Given the description of an element on the screen output the (x, y) to click on. 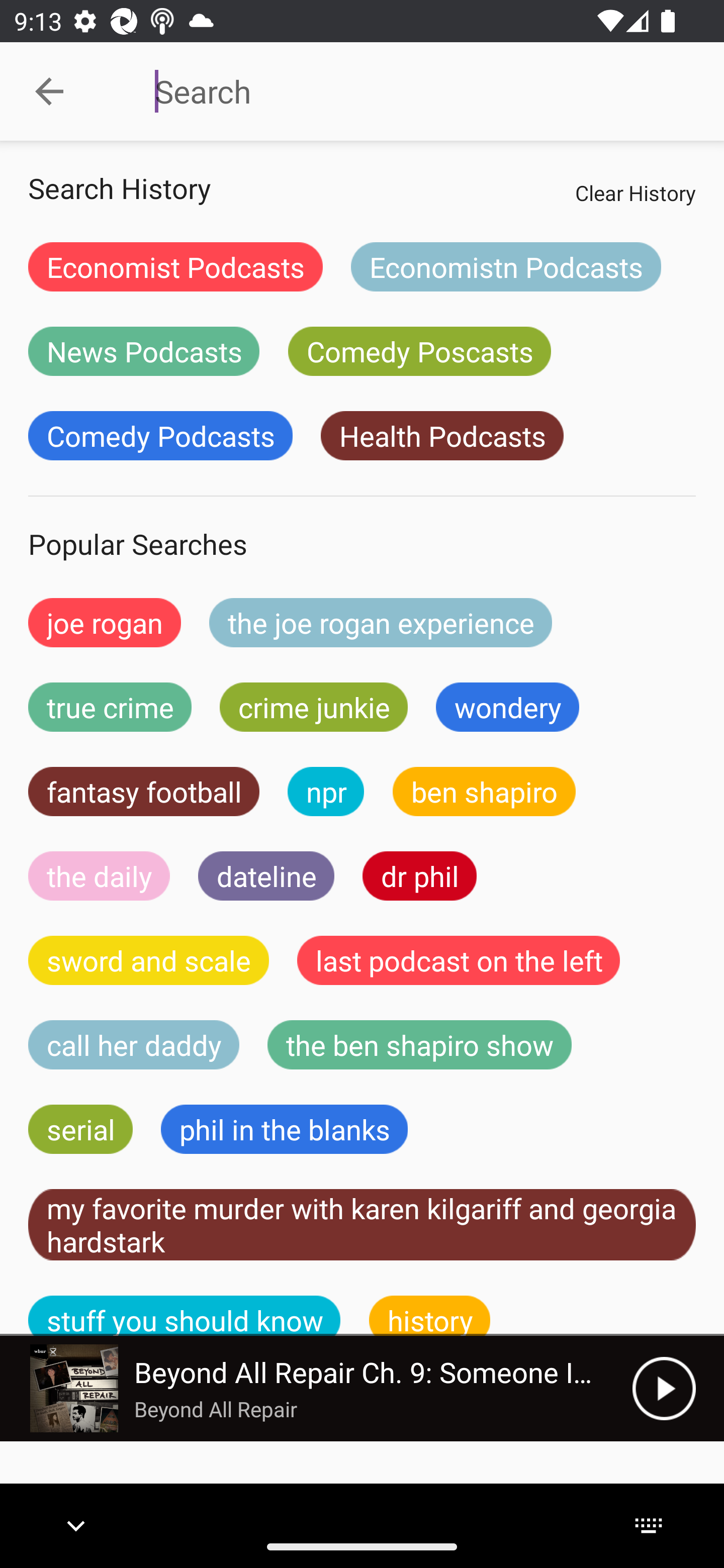
Collapse (49, 91)
Search (407, 91)
Clear History (634, 192)
Economist Podcasts (175, 266)
Economistn Podcasts (506, 266)
News Podcasts (143, 351)
Comedy Poscasts (419, 351)
Comedy Podcasts (160, 435)
Health Podcasts (441, 435)
joe rogan (104, 622)
the joe rogan experience (380, 622)
true crime (109, 707)
crime junkie (313, 707)
wondery (507, 707)
fantasy football (143, 791)
npr (325, 791)
ben shapiro (483, 791)
the daily (99, 875)
dateline (266, 875)
dr phil (419, 875)
sword and scale (148, 960)
last podcast on the left (458, 960)
call her daddy (133, 1044)
the ben shapiro show (419, 1044)
serial (80, 1128)
phil in the blanks (283, 1128)
stuff you should know (184, 1315)
history (429, 1315)
Play (663, 1388)
